Given the description of an element on the screen output the (x, y) to click on. 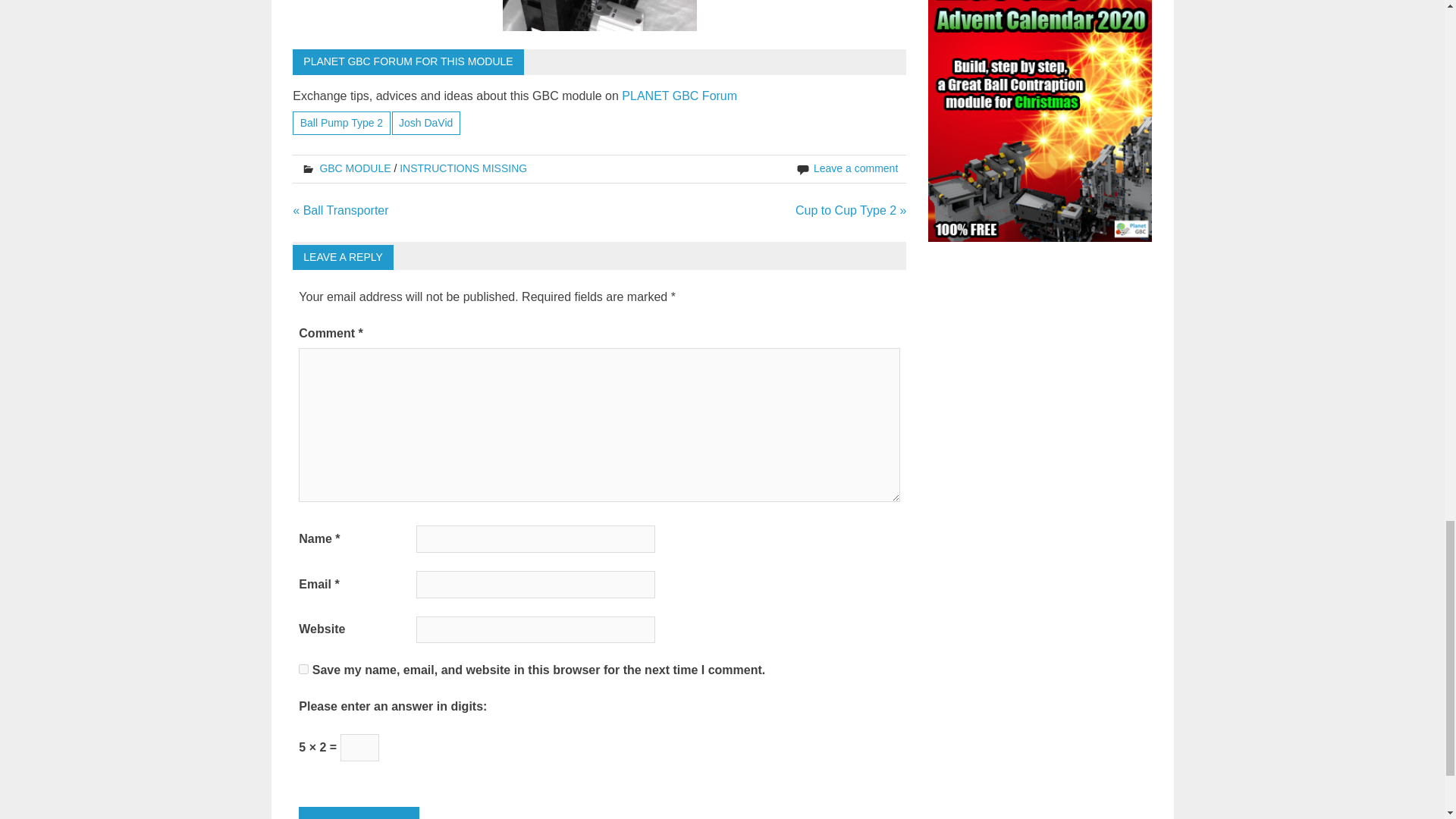
yes (303, 669)
LEGO GBC Ball Pump Type 2 46 (599, 15)
Post Comment (358, 812)
